Given the description of an element on the screen output the (x, y) to click on. 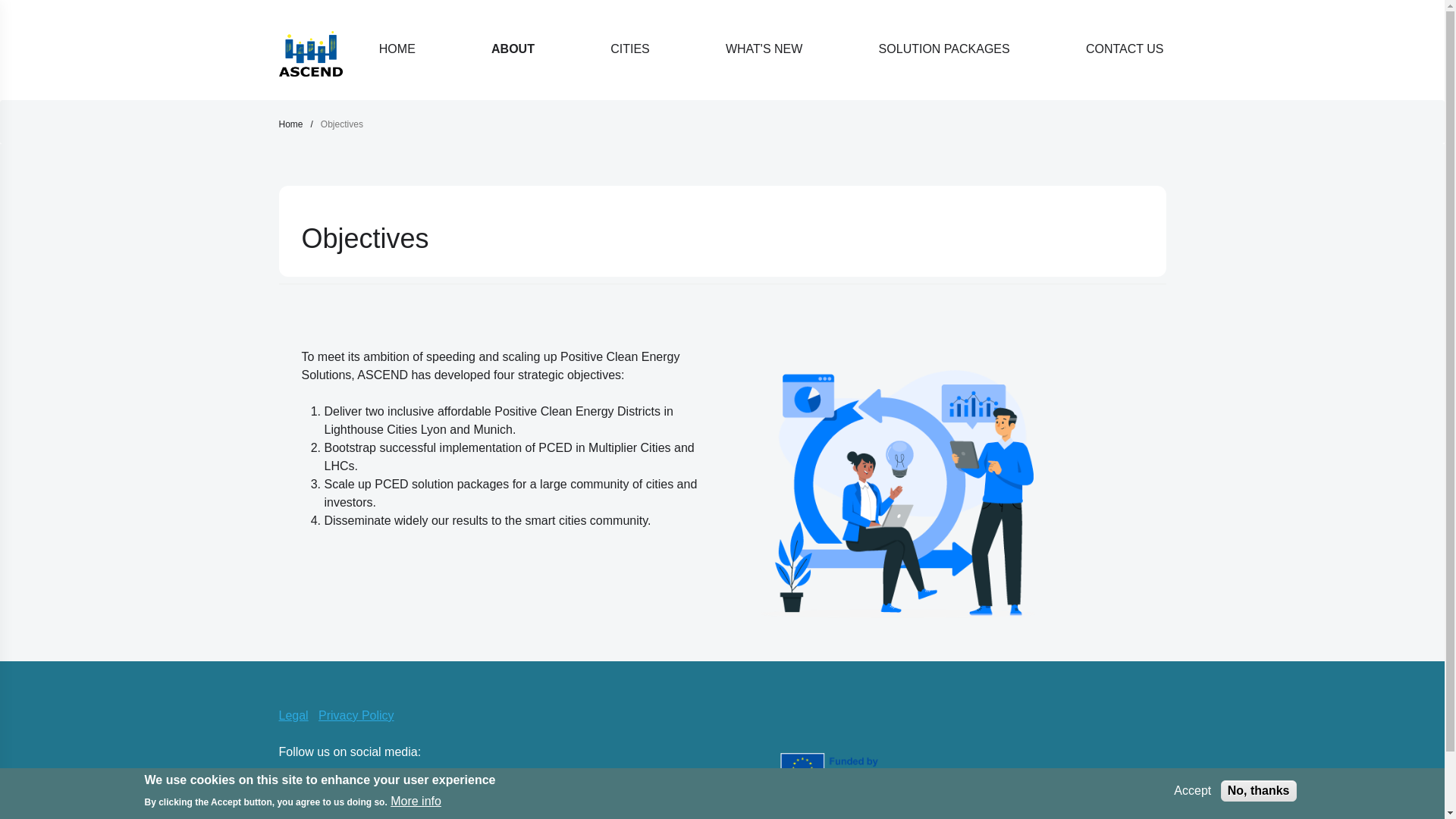
HOME (397, 49)
ABOUT (512, 49)
CONTACT US (1122, 49)
CITIES (630, 49)
SOLUTION PACKAGES (944, 49)
WHAT'S NEW (764, 49)
